Given the description of an element on the screen output the (x, y) to click on. 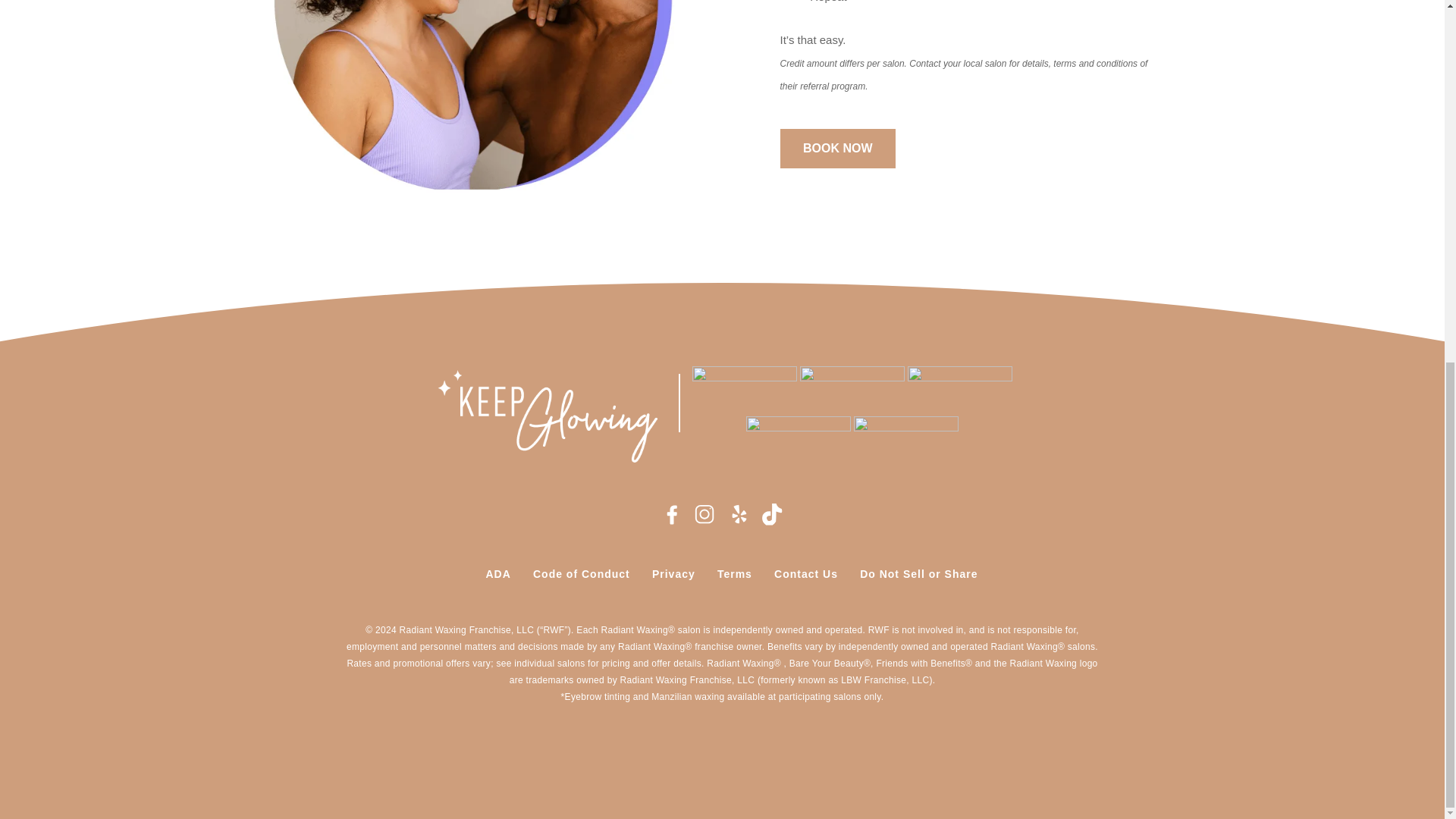
Go to Fitness Together website (905, 440)
Yelp (739, 514)
Go to Elements Massage Website (797, 440)
Go to Amazing Lash Studio Website (851, 390)
Facebook (671, 514)
Instagram (705, 514)
Go to Radiant Waxing Website (959, 390)
Tiktok (772, 514)
Go to Drybar Website (744, 390)
